Given the description of an element on the screen output the (x, y) to click on. 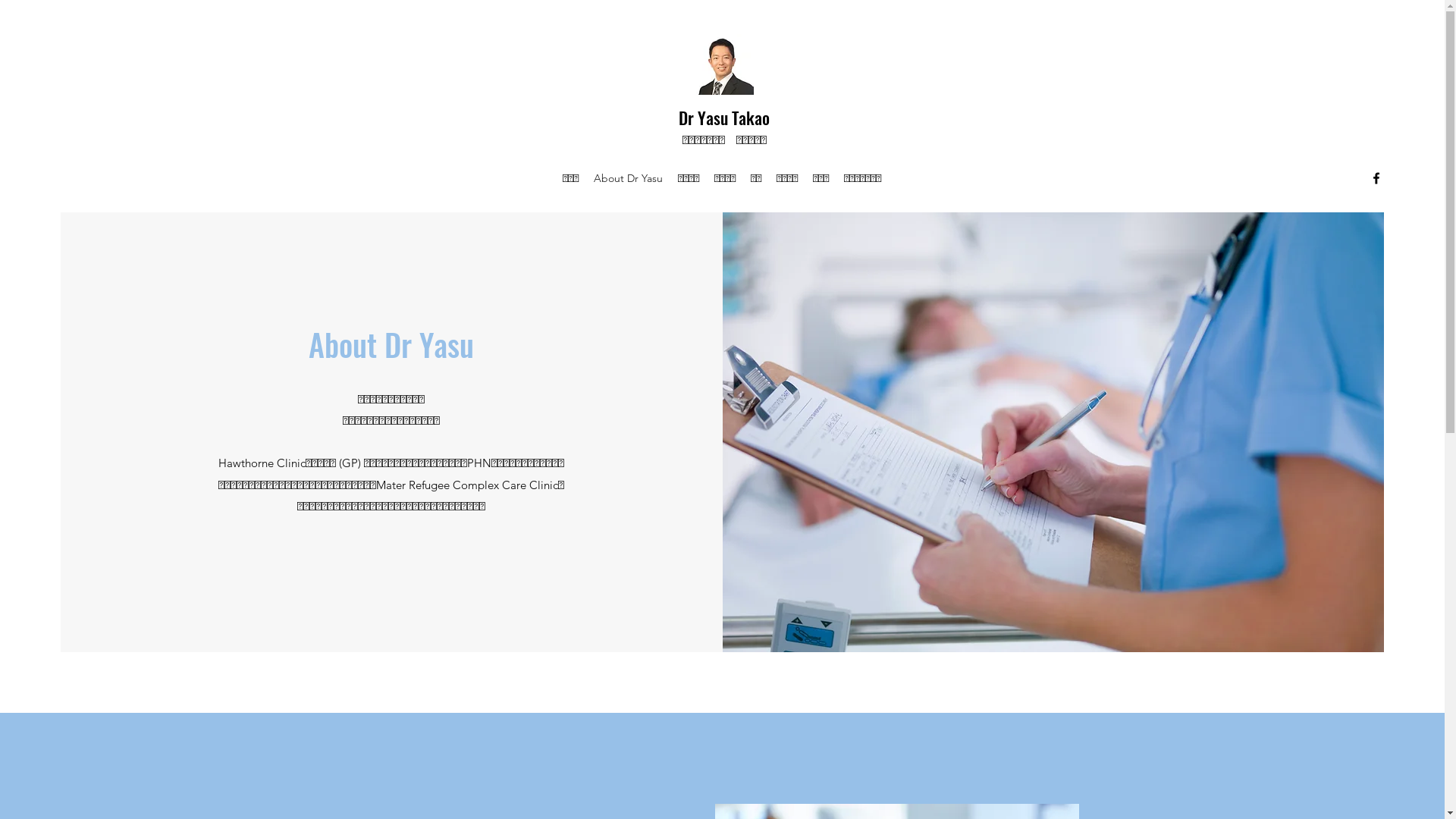
About Dr Yasu Element type: text (628, 177)
Dr Yasu Takao Element type: text (723, 117)
